Given the description of an element on the screen output the (x, y) to click on. 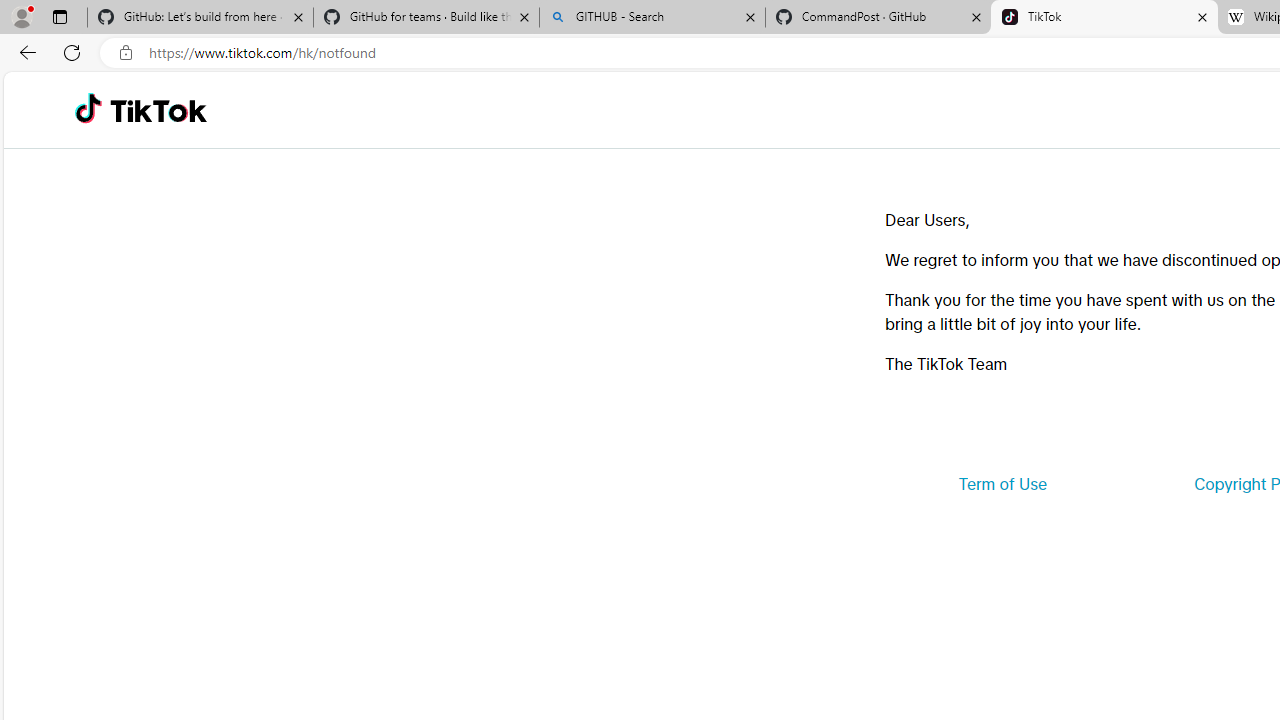
TikTok (158, 110)
Term of Use (1002, 484)
GITHUB - Search (652, 17)
TikTok (1104, 17)
